Given the description of an element on the screen output the (x, y) to click on. 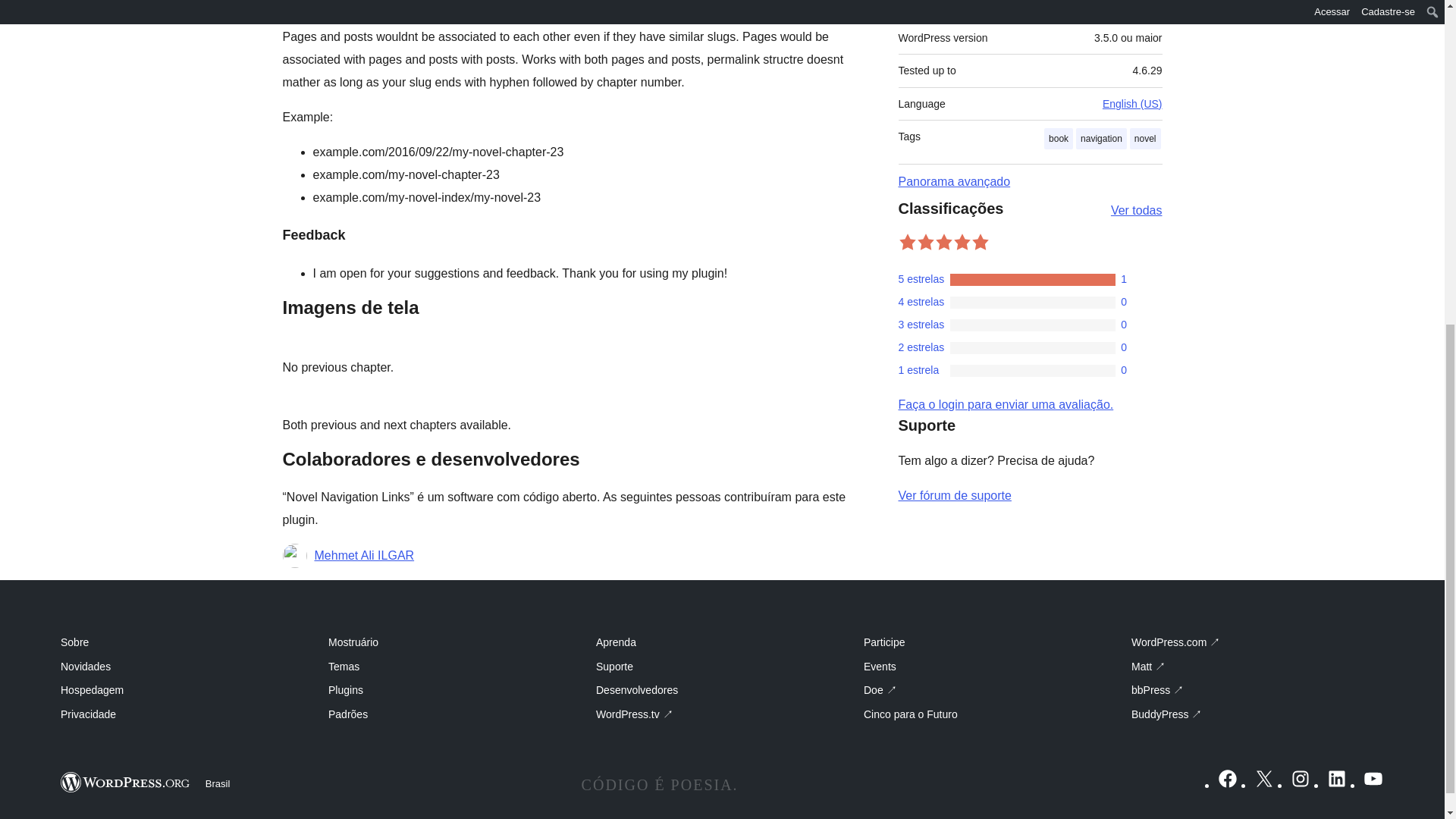
WordPress.org (125, 782)
Fazer login no WordPress.org (1005, 404)
